Given the description of an element on the screen output the (x, y) to click on. 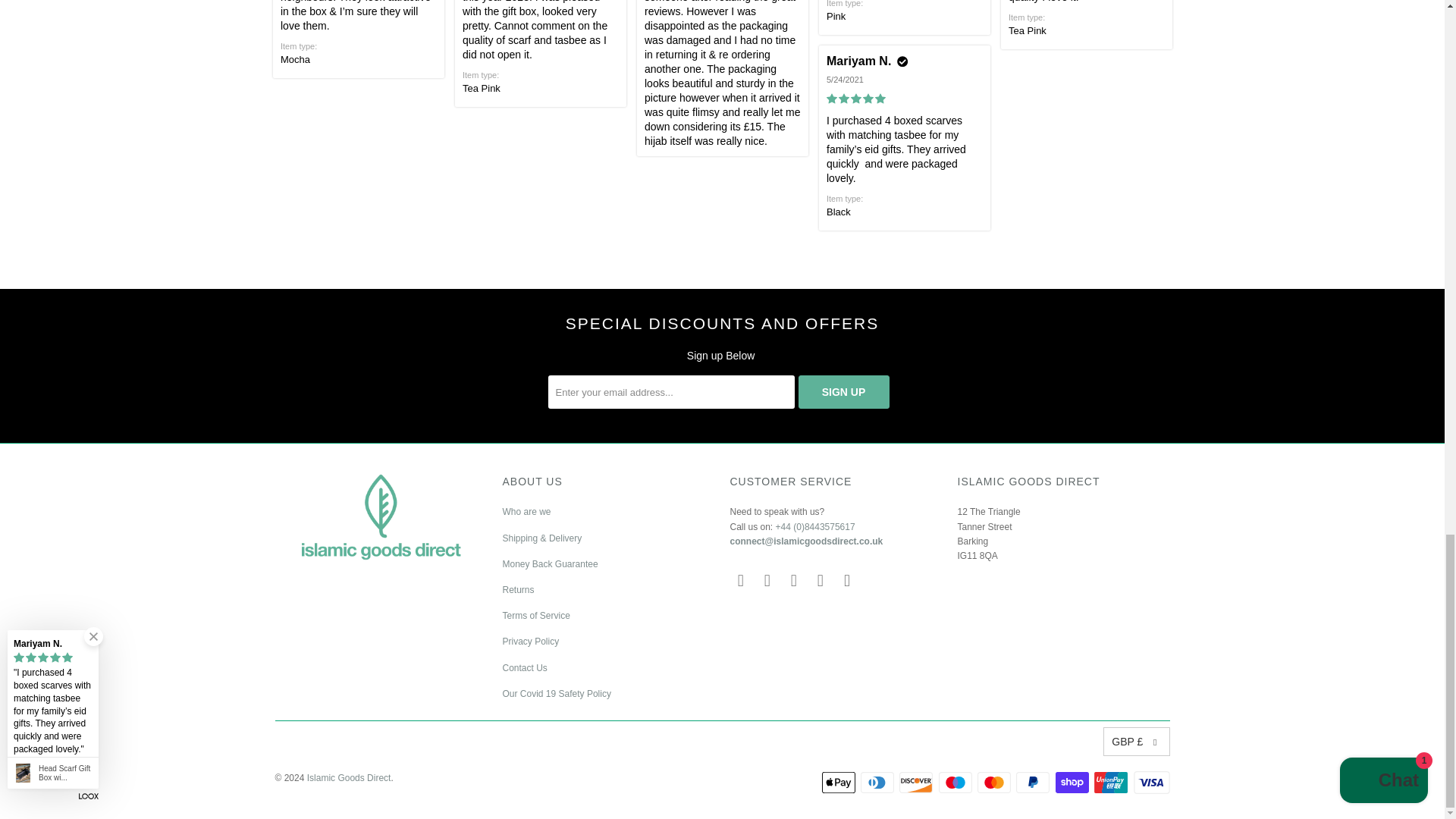
Diners Club (878, 782)
PayPal (1034, 782)
Union Pay (1112, 782)
Sign Up (842, 391)
Mastercard (994, 782)
Shop Pay (1073, 782)
Discover (917, 782)
Maestro (957, 782)
Apple Pay (840, 782)
